Given the description of an element on the screen output the (x, y) to click on. 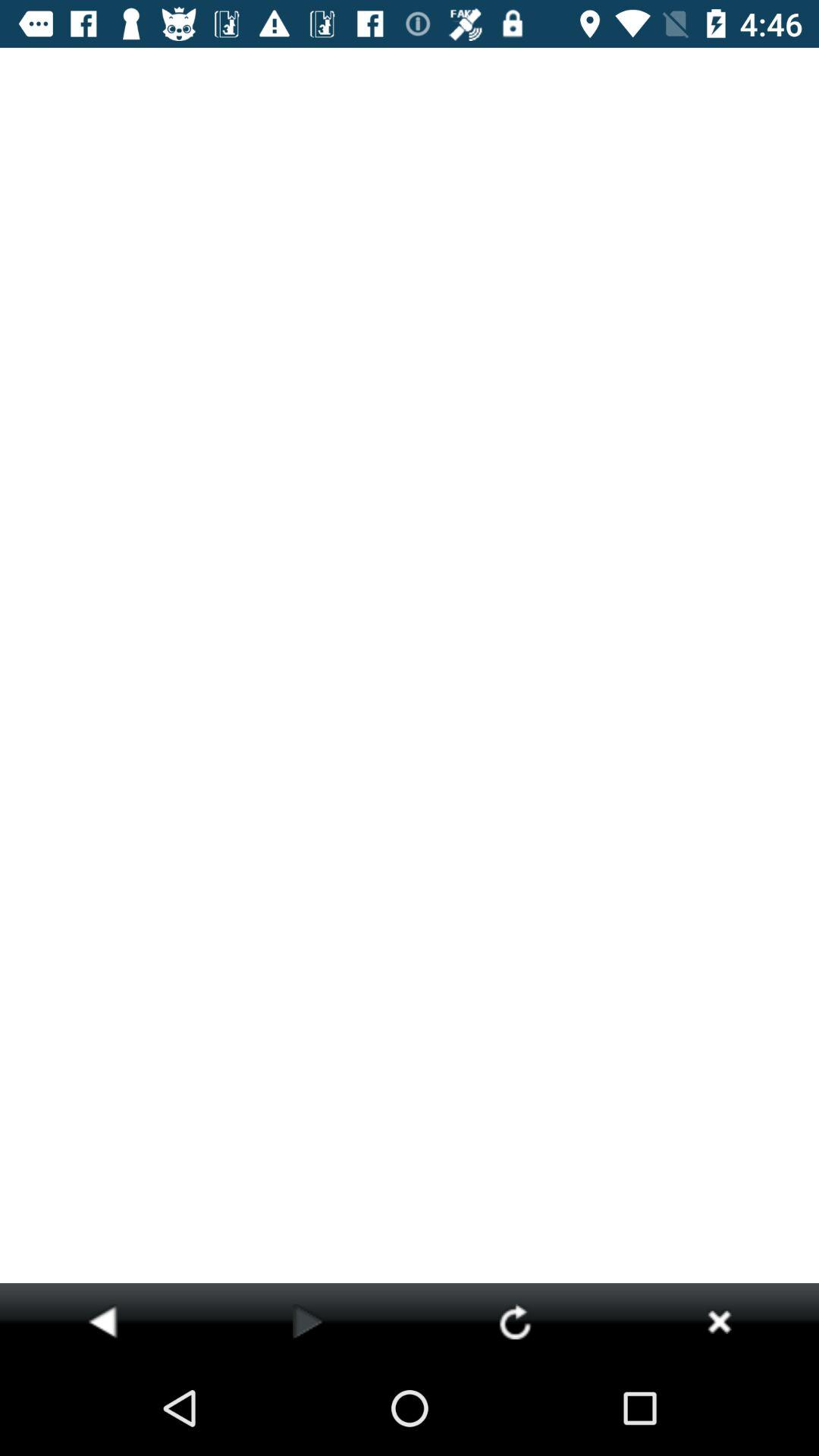
navigate away from page (719, 1321)
